Given the description of an element on the screen output the (x, y) to click on. 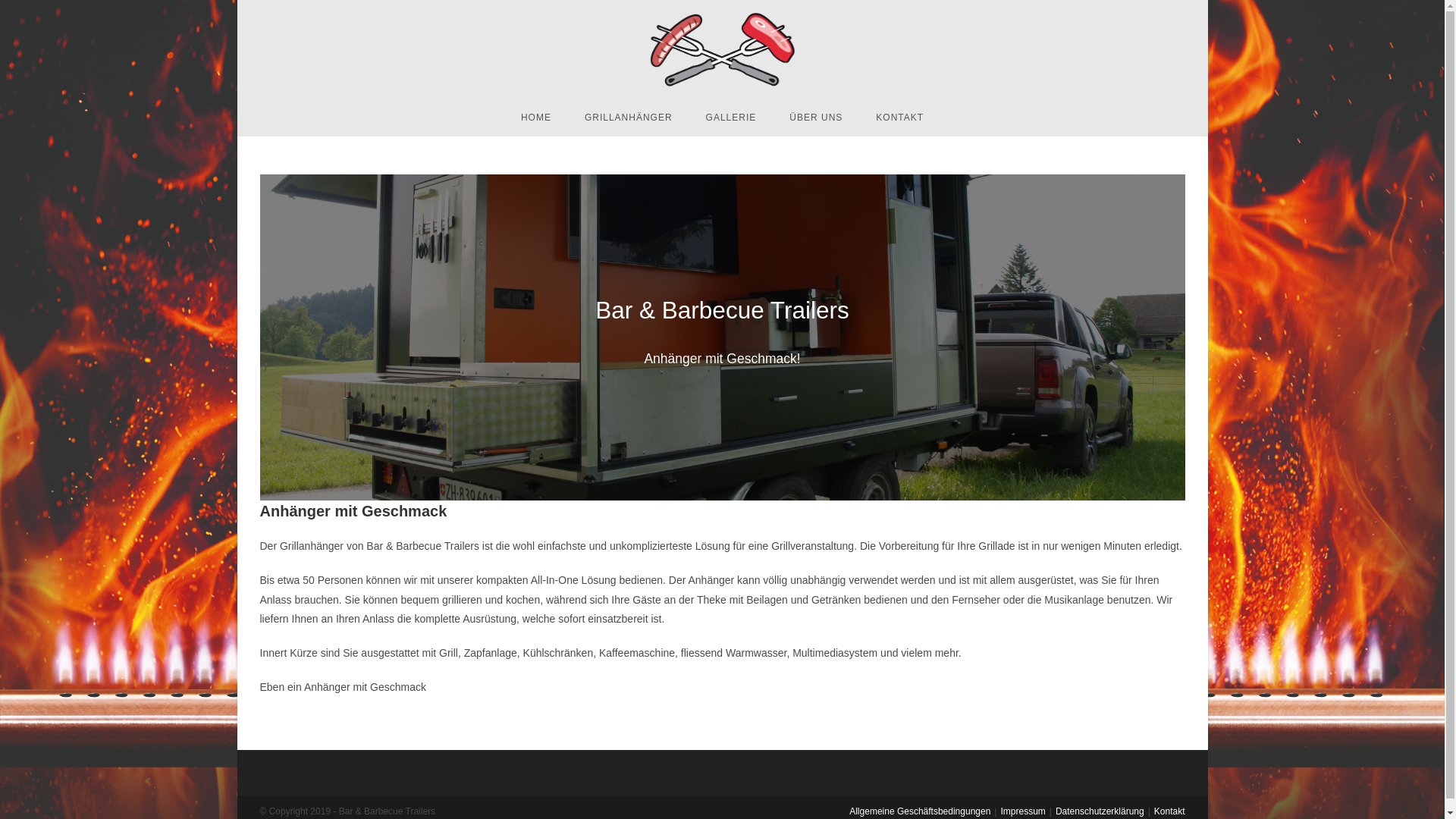
KONTAKT Element type: text (899, 117)
HOME Element type: text (535, 117)
Impressum Element type: text (1022, 811)
GALLERIE Element type: text (731, 117)
Kontakt Element type: text (1169, 811)
